Given the description of an element on the screen output the (x, y) to click on. 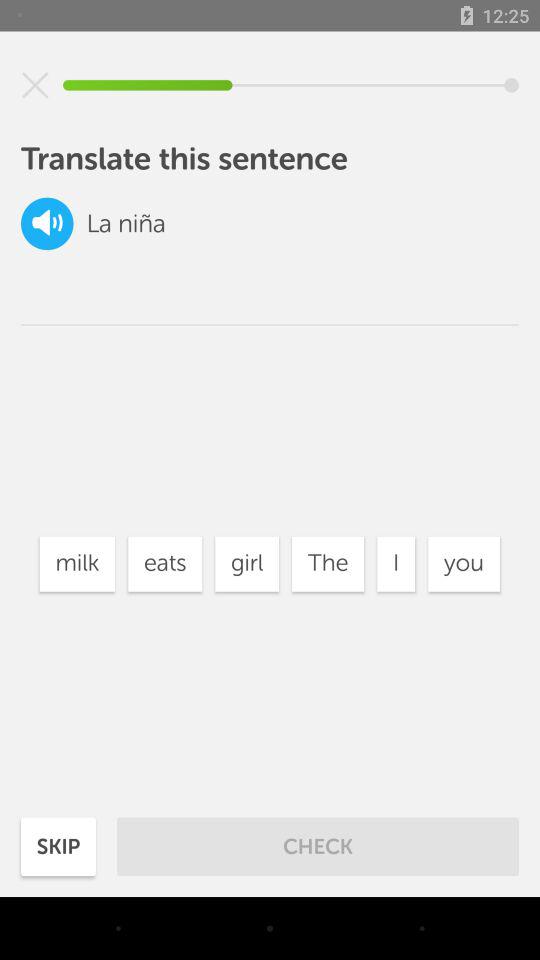
turn on item to the left of you (396, 563)
